Given the description of an element on the screen output the (x, y) to click on. 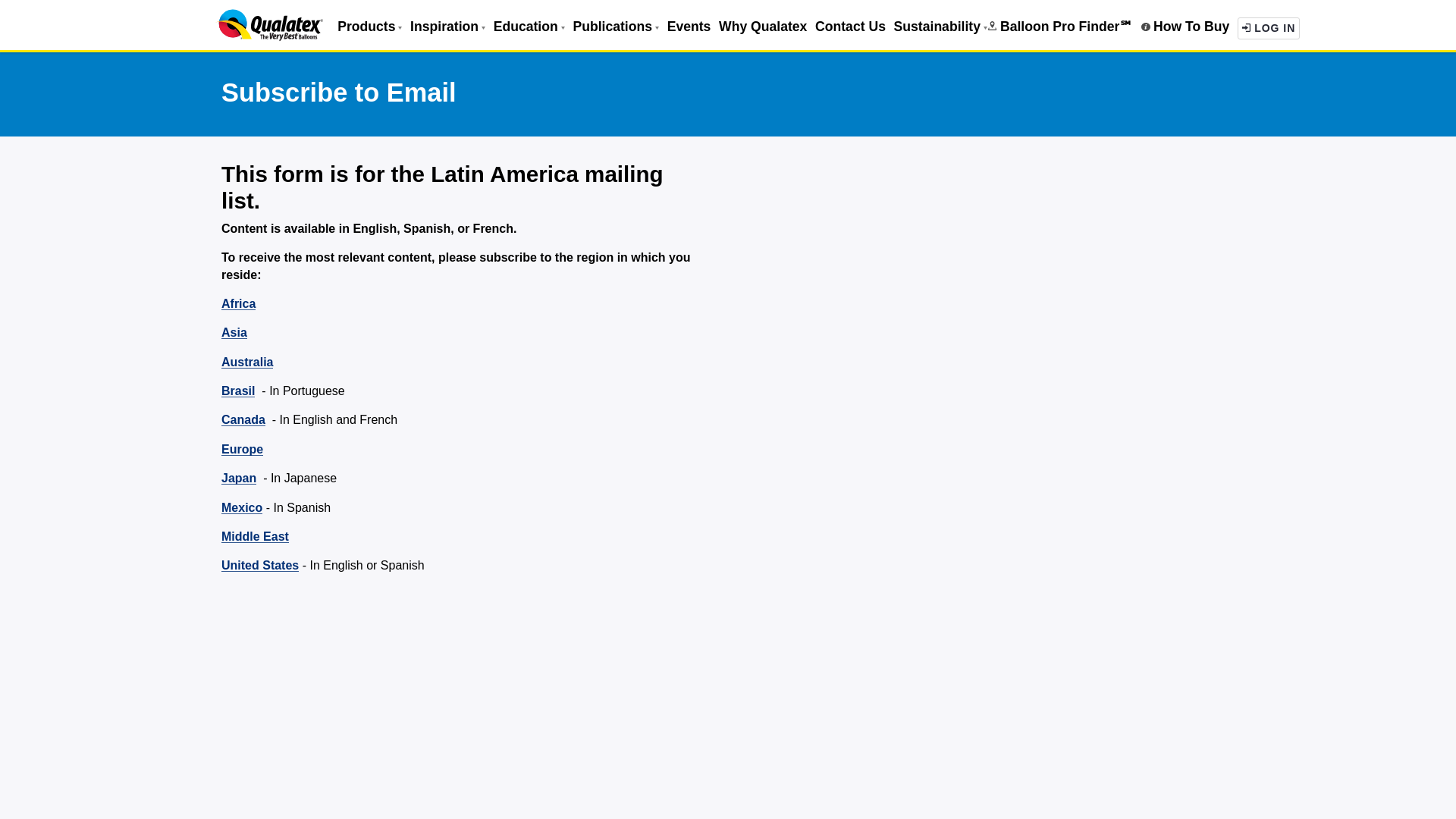
Why Qualatex (762, 26)
ICON-LOGIN (1245, 27)
Sustainability (940, 26)
Publications (615, 26)
How To Buy (1184, 26)
Inspiration (447, 26)
Africa (238, 303)
Products (369, 26)
Events (1268, 28)
Education (688, 26)
Contact Us (528, 26)
